Given the description of an element on the screen output the (x, y) to click on. 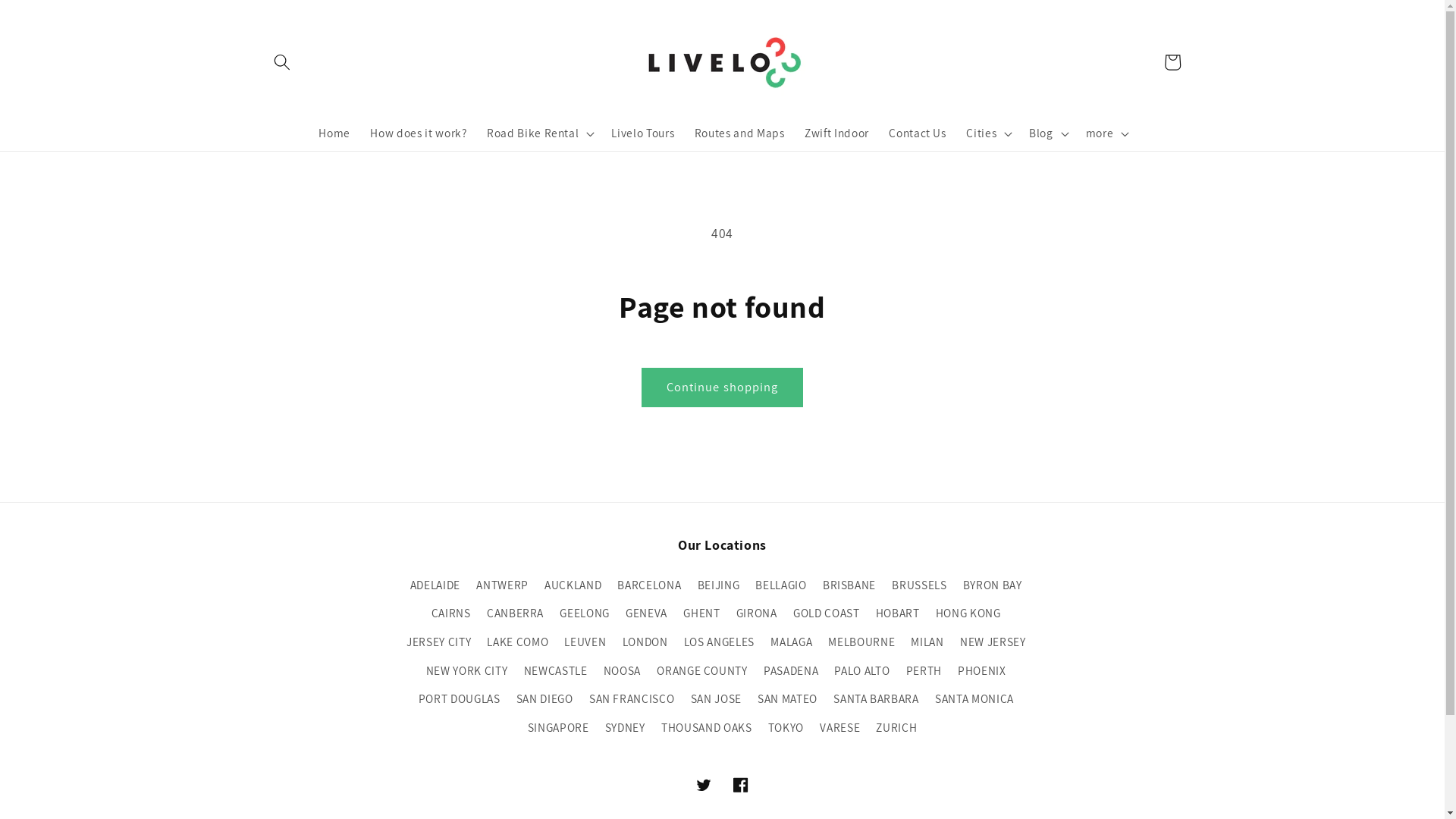
MILAN Element type: text (926, 641)
ADELAIDE Element type: text (435, 586)
SANTA BARBARA Element type: text (876, 698)
How does it work? Element type: text (418, 133)
HONG KONG Element type: text (968, 613)
BARCELONA Element type: text (648, 584)
Twitter Element type: text (703, 784)
PALO ALTO Element type: text (861, 669)
SAN FRANCISCO Element type: text (631, 698)
LEUVEN Element type: text (584, 641)
Facebook Element type: text (739, 784)
BEIJING Element type: text (718, 584)
BELLAGIO Element type: text (780, 584)
ORANGE COUNTY Element type: text (701, 669)
PORT DOUGLAS Element type: text (459, 698)
AUCKLAND Element type: text (572, 584)
SAN DIEGO Element type: text (544, 698)
BRISBANE Element type: text (848, 584)
GIRONA Element type: text (756, 613)
SAN JOSE Element type: text (715, 698)
Livelo Tours Element type: text (642, 133)
MALAGA Element type: text (791, 641)
LOS ANGELES Element type: text (719, 641)
BRUSSELS Element type: text (918, 584)
SANTA MONICA Element type: text (974, 698)
ZURICH Element type: text (895, 726)
TOKYO Element type: text (785, 726)
NEW JERSEY Element type: text (993, 641)
NOOSA Element type: text (621, 669)
Contact Us Element type: text (917, 133)
NEWCASTLE Element type: text (555, 669)
Cart Element type: text (1172, 61)
MELBOURNE Element type: text (861, 641)
VARESE Element type: text (839, 726)
PHOENIX Element type: text (981, 669)
SAN MATEO Element type: text (787, 698)
BYRON BAY Element type: text (992, 584)
CANBERRA Element type: text (514, 613)
SINGAPORE Element type: text (558, 726)
GHENT Element type: text (701, 613)
SYDNEY Element type: text (625, 726)
Continue shopping Element type: text (722, 387)
ANTWERP Element type: text (502, 584)
CAIRNS Element type: text (450, 613)
Home Element type: text (334, 133)
THOUSAND OAKS Element type: text (706, 726)
PASADENA Element type: text (790, 669)
PERTH Element type: text (923, 669)
JERSEY CITY Element type: text (438, 641)
NEW YORK CITY Element type: text (467, 669)
Routes and Maps Element type: text (738, 133)
Zwift Indoor Element type: text (836, 133)
GEELONG Element type: text (584, 613)
GOLD COAST Element type: text (826, 613)
LAKE COMO Element type: text (517, 641)
HOBART Element type: text (897, 613)
LONDON Element type: text (645, 641)
GENEVA Element type: text (646, 613)
